Given the description of an element on the screen output the (x, y) to click on. 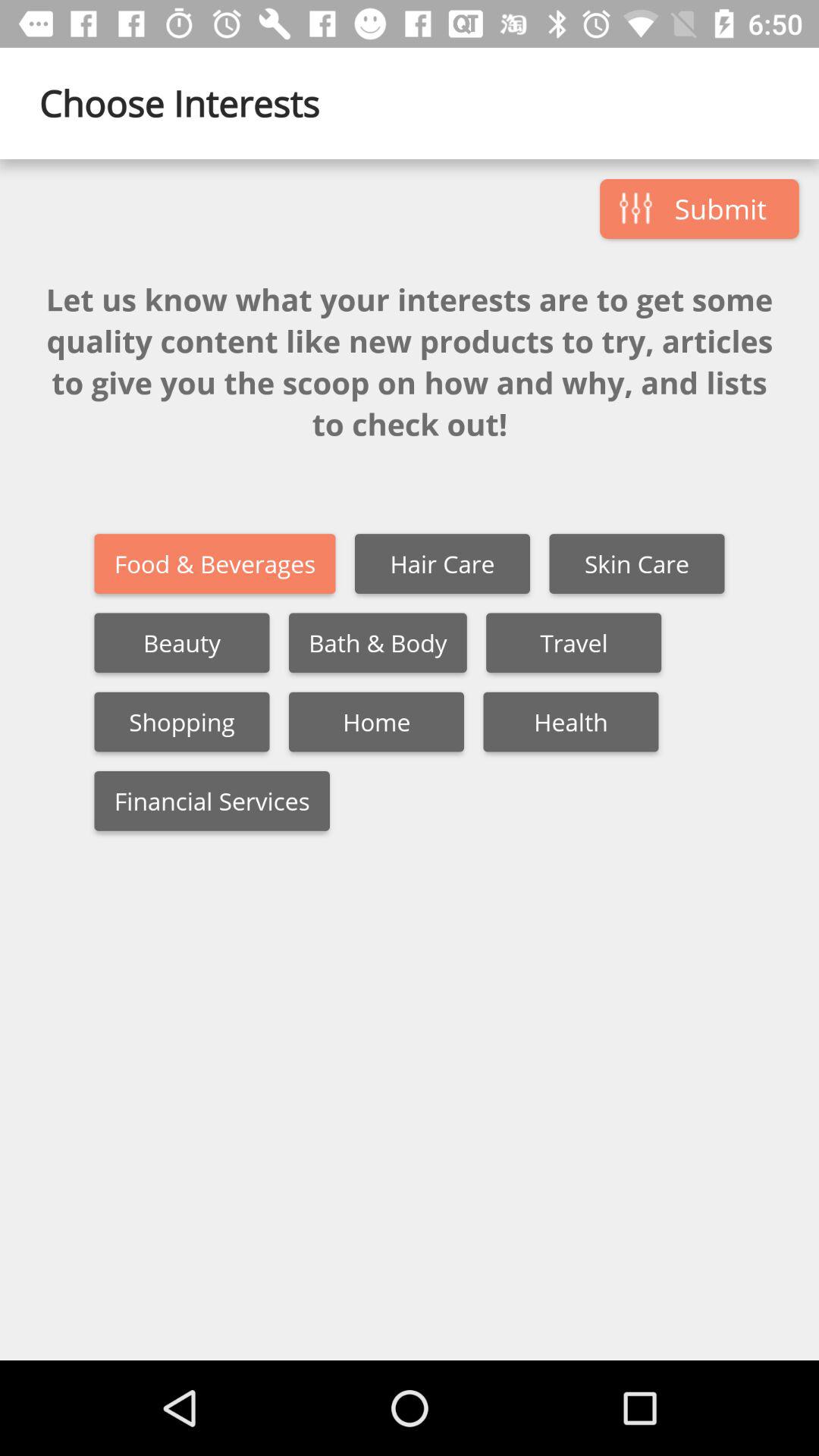
click the item next to bath & body item (181, 642)
